Given the description of an element on the screen output the (x, y) to click on. 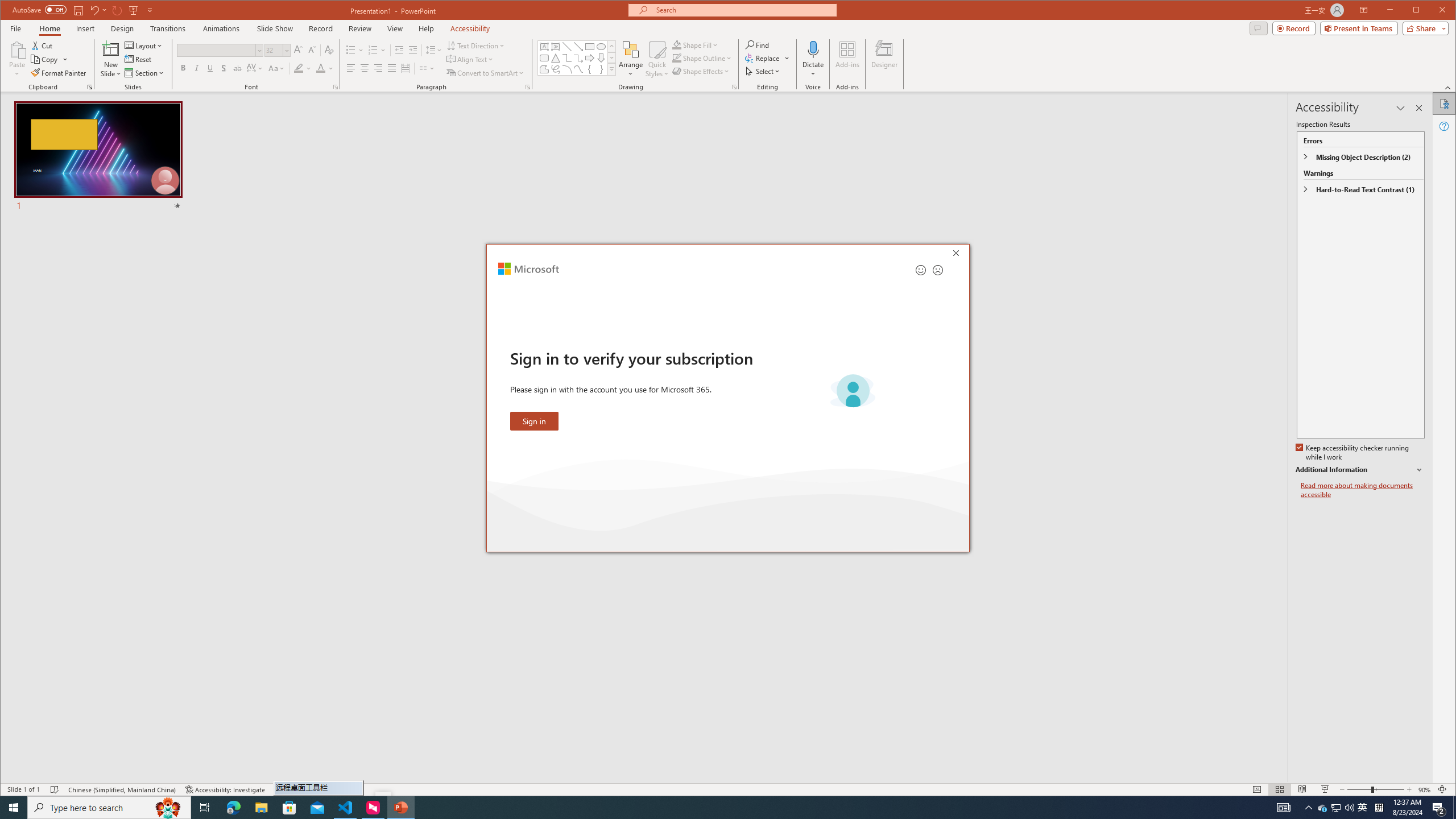
Shape Outline Blue, Accent 1 (676, 57)
